Given the description of an element on the screen output the (x, y) to click on. 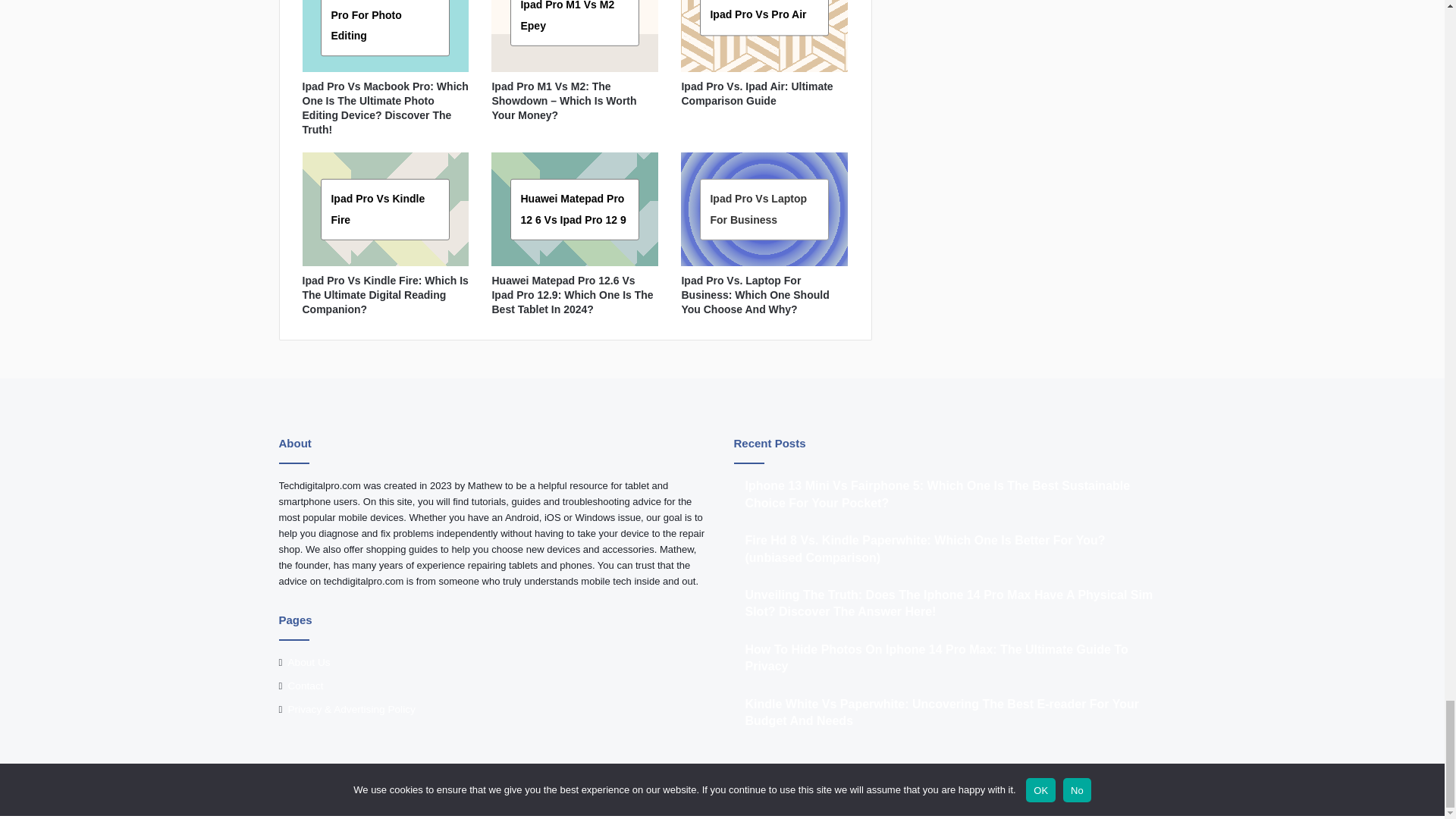
Ipad Pro Vs Macbook Pro For Photo Editing (384, 20)
Ipad Pro Vs Pro Air (758, 15)
Ipad Pro M1 Vs M2 Epey (566, 15)
